Given the description of an element on the screen output the (x, y) to click on. 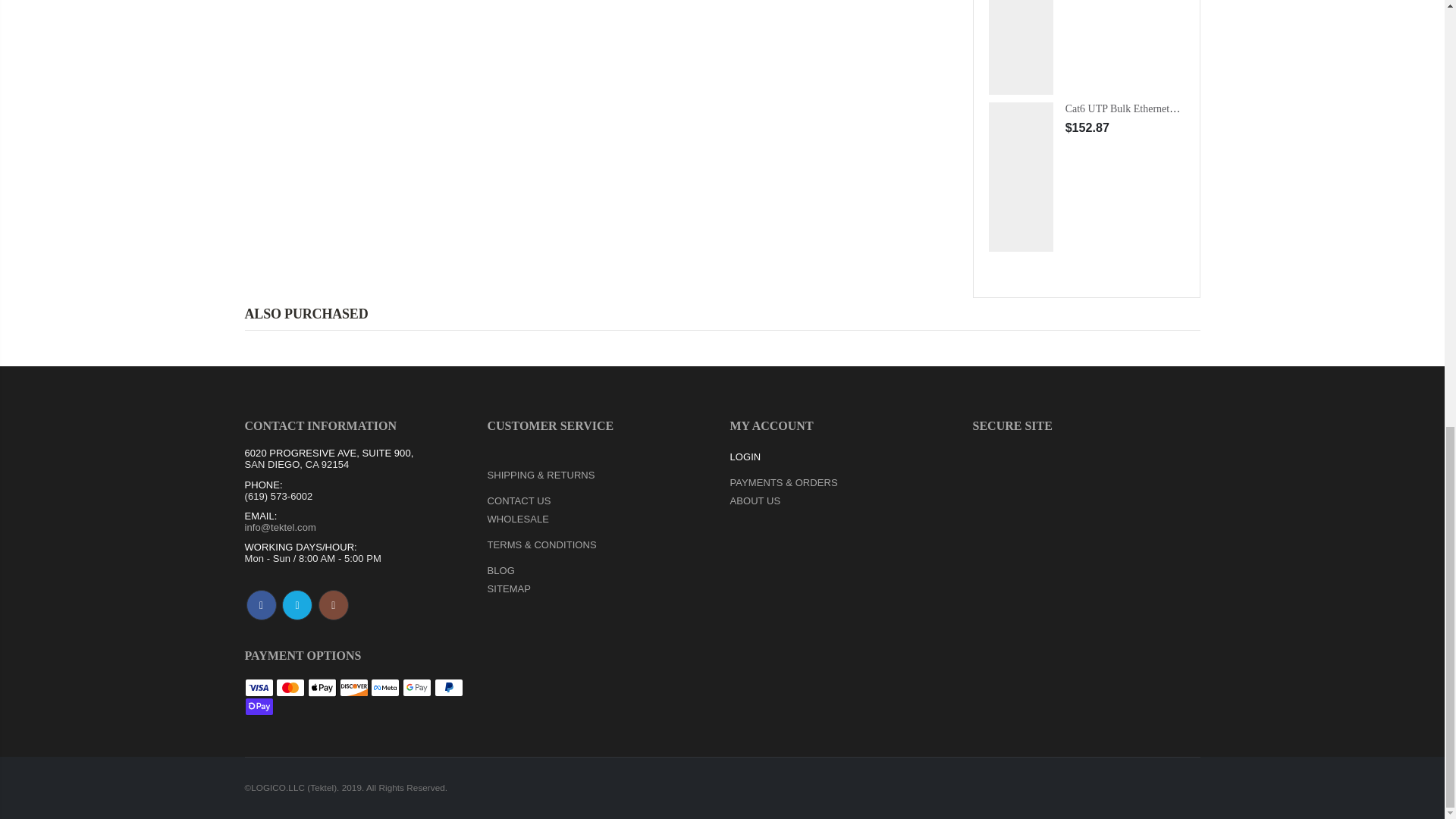
PayPal (448, 687)
Visa (258, 687)
Google Pay (416, 687)
Meta Pay (384, 687)
Apple Pay (321, 687)
Shop Pay (258, 706)
Discover (353, 687)
Mastercard (290, 687)
